Given the description of an element on the screen output the (x, y) to click on. 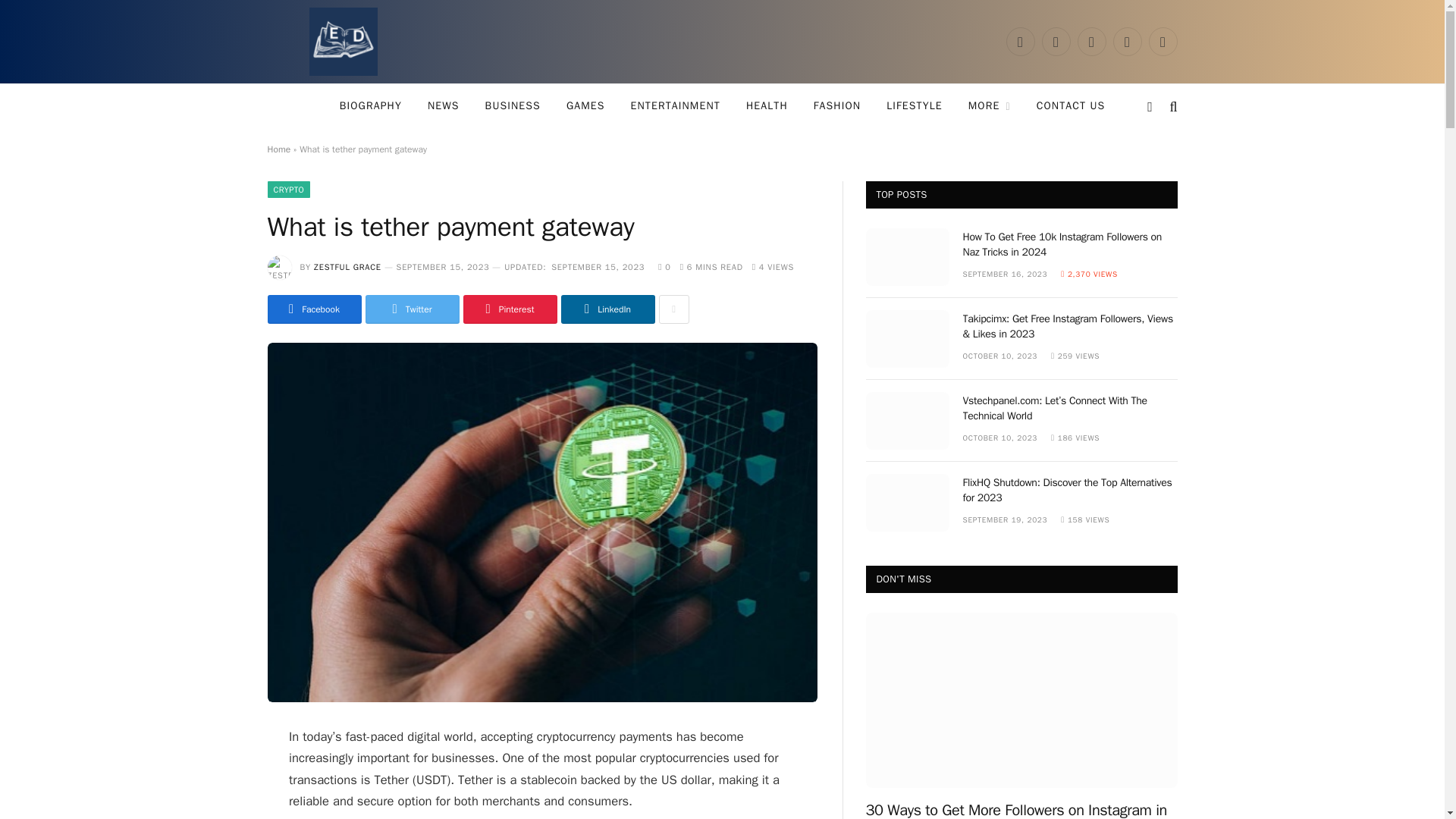
ENTERTAINMENT (675, 106)
Pinterest (1127, 41)
Ellenpage Daily (342, 41)
YouTube (1162, 41)
Facebook (1019, 41)
Twitter (1056, 41)
GAMES (585, 106)
Posts by zestful Grace (347, 266)
FASHION (836, 106)
Share on Facebook (313, 308)
